Given the description of an element on the screen output the (x, y) to click on. 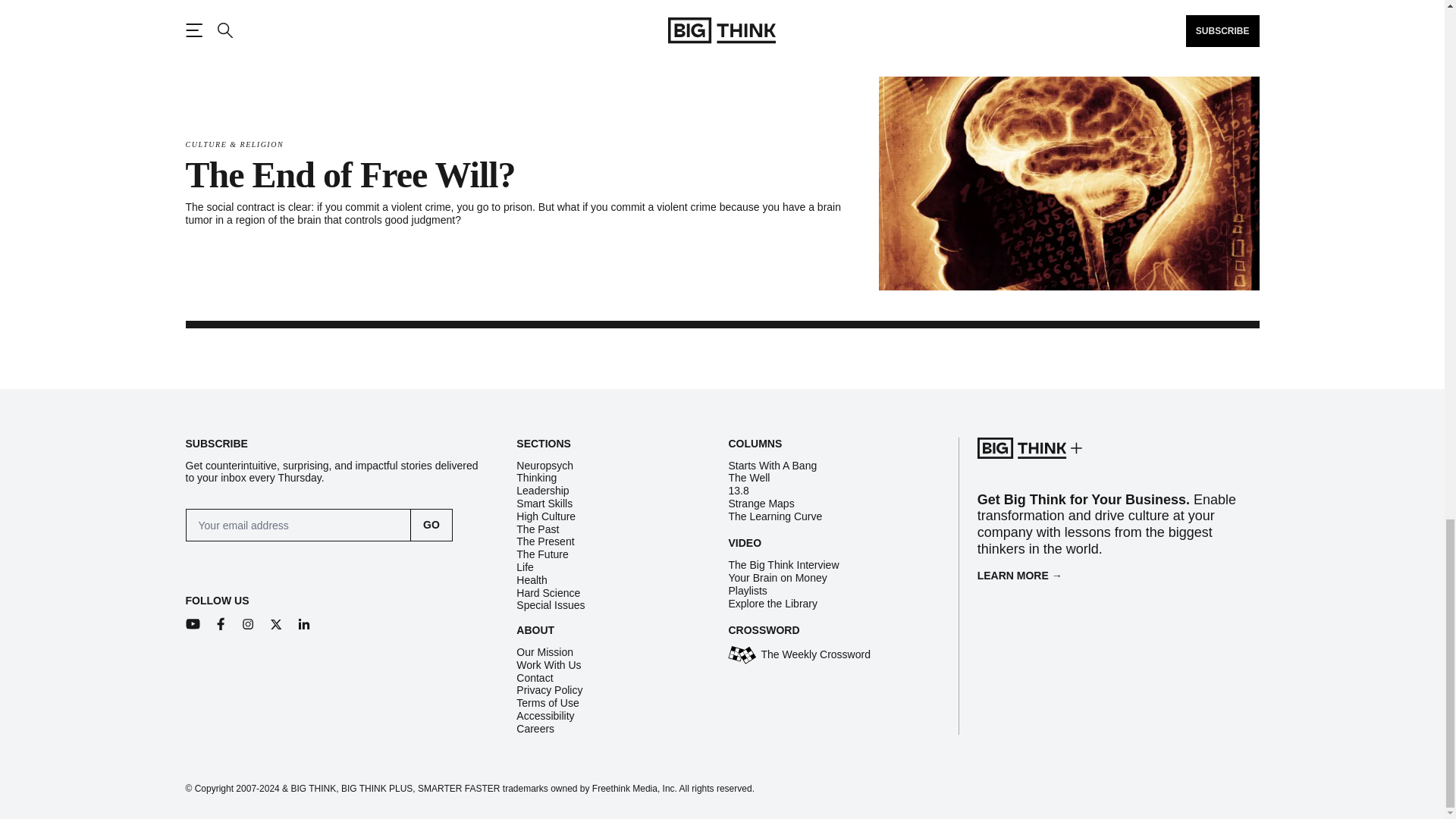
Go (431, 524)
